Given the description of an element on the screen output the (x, y) to click on. 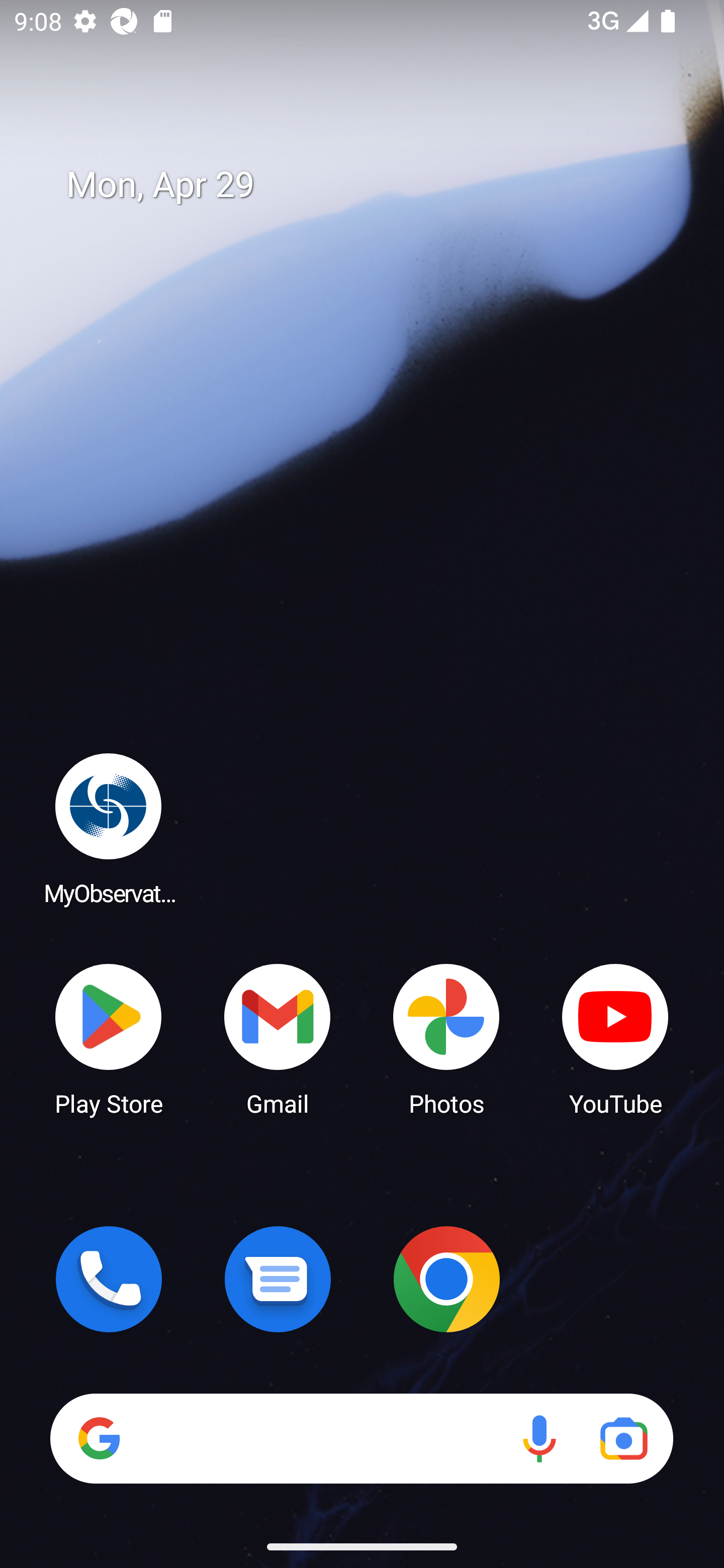
Mon, Apr 29 (375, 184)
MyObservatory (108, 828)
Play Store (108, 1038)
Gmail (277, 1038)
Photos (445, 1038)
YouTube (615, 1038)
Phone (108, 1279)
Messages (277, 1279)
Chrome (446, 1279)
Voice search (539, 1438)
Google Lens (623, 1438)
